Given the description of an element on the screen output the (x, y) to click on. 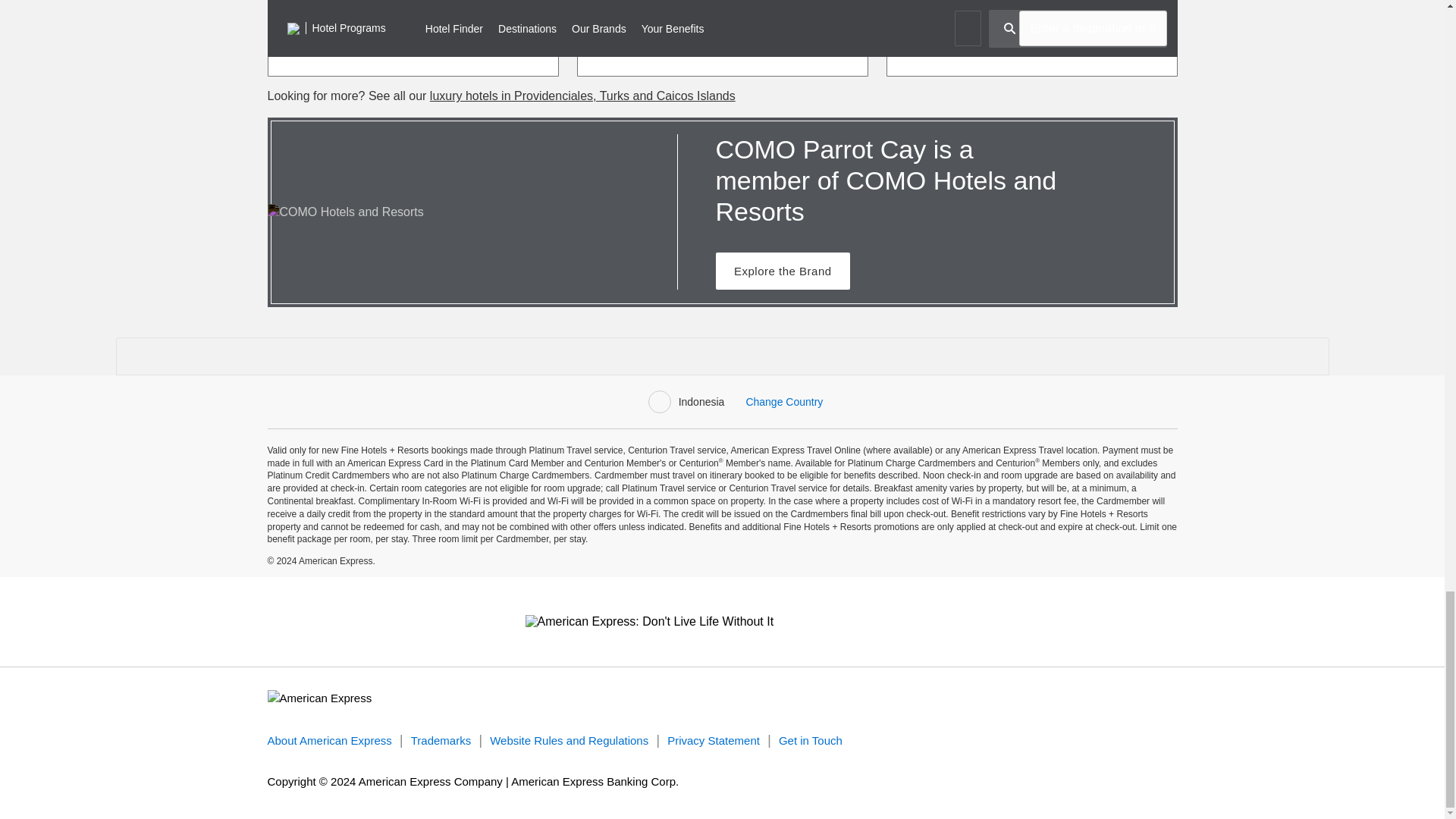
Trademarks (440, 739)
Privacy Statement (713, 739)
About American Express (328, 739)
Get in Touch (810, 739)
Website Rules and Regulations (568, 739)
